Given the description of an element on the screen output the (x, y) to click on. 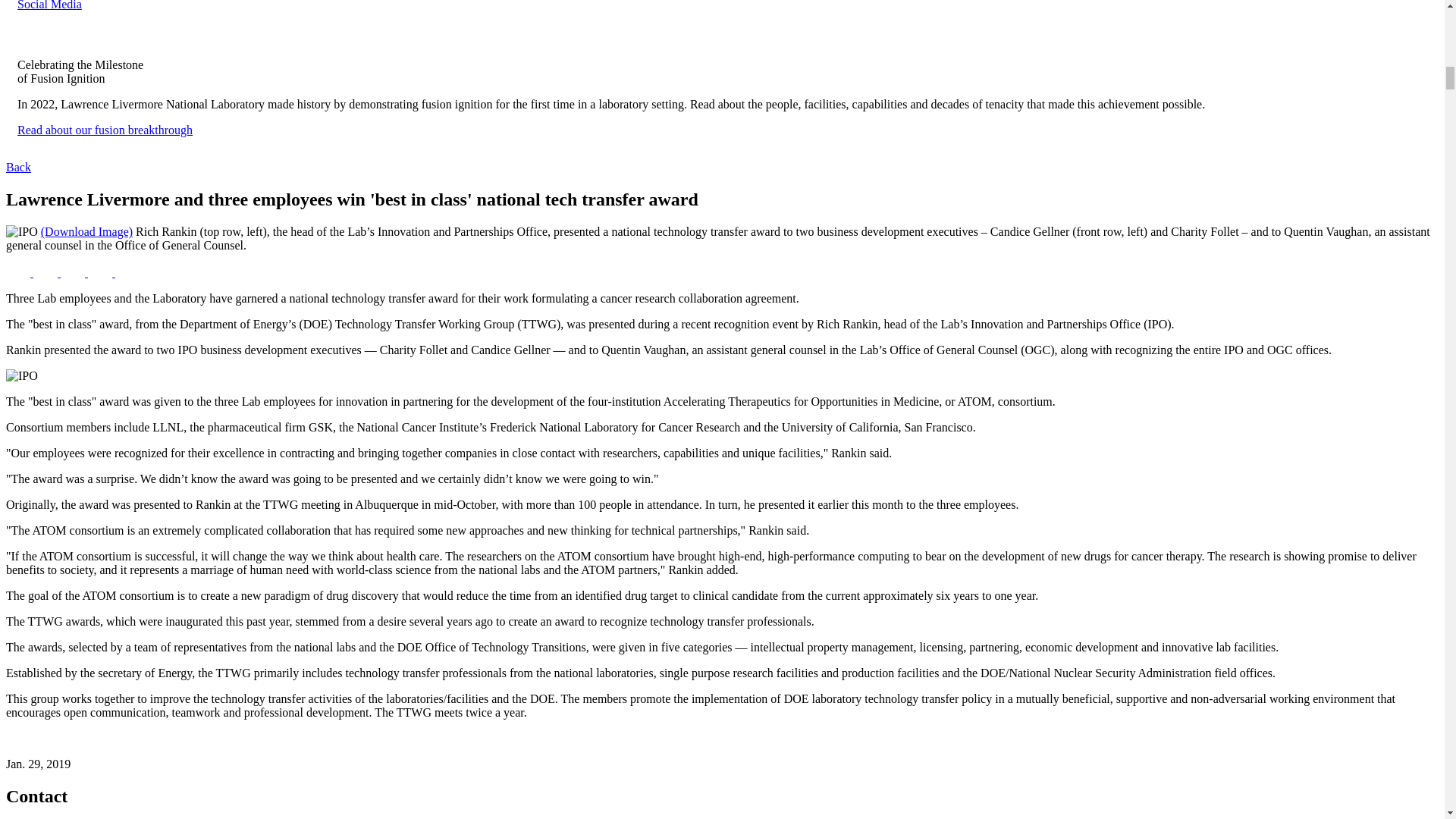
Share to Email (101, 272)
Share to Linkedin (74, 272)
Share to Facebook (19, 272)
Share to X (47, 272)
